Given the description of an element on the screen output the (x, y) to click on. 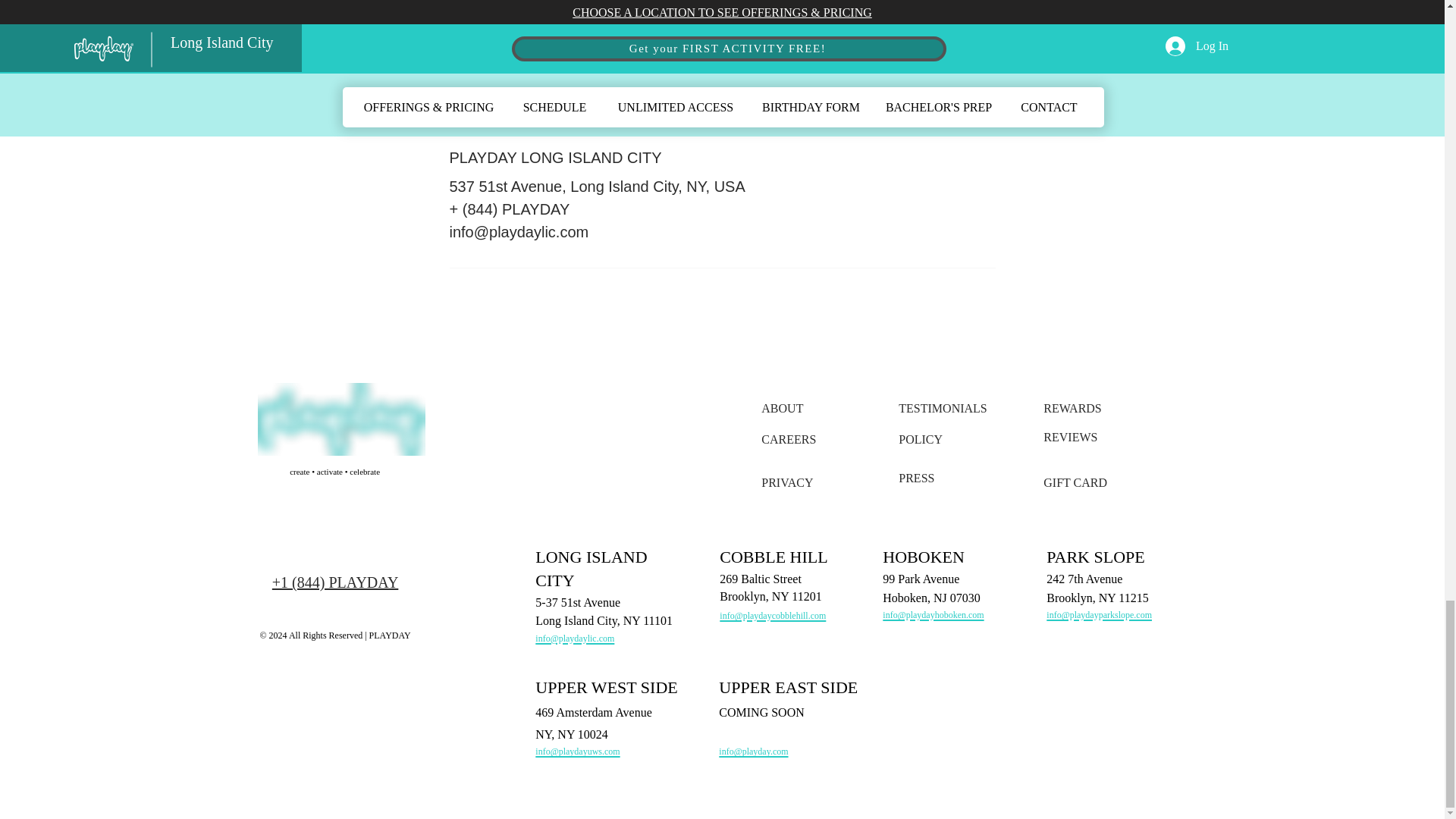
PRIVACY (786, 481)
GIFT CARD (1074, 481)
REWARDS (1071, 408)
PLAYDAY Creative Art Studio for Children (341, 419)
POLICY (920, 439)
CAREERS (788, 439)
REVIEWS (1070, 436)
ABOUT (782, 408)
PRESS (916, 477)
TESTIMONIALS (942, 408)
